Given the description of an element on the screen output the (x, y) to click on. 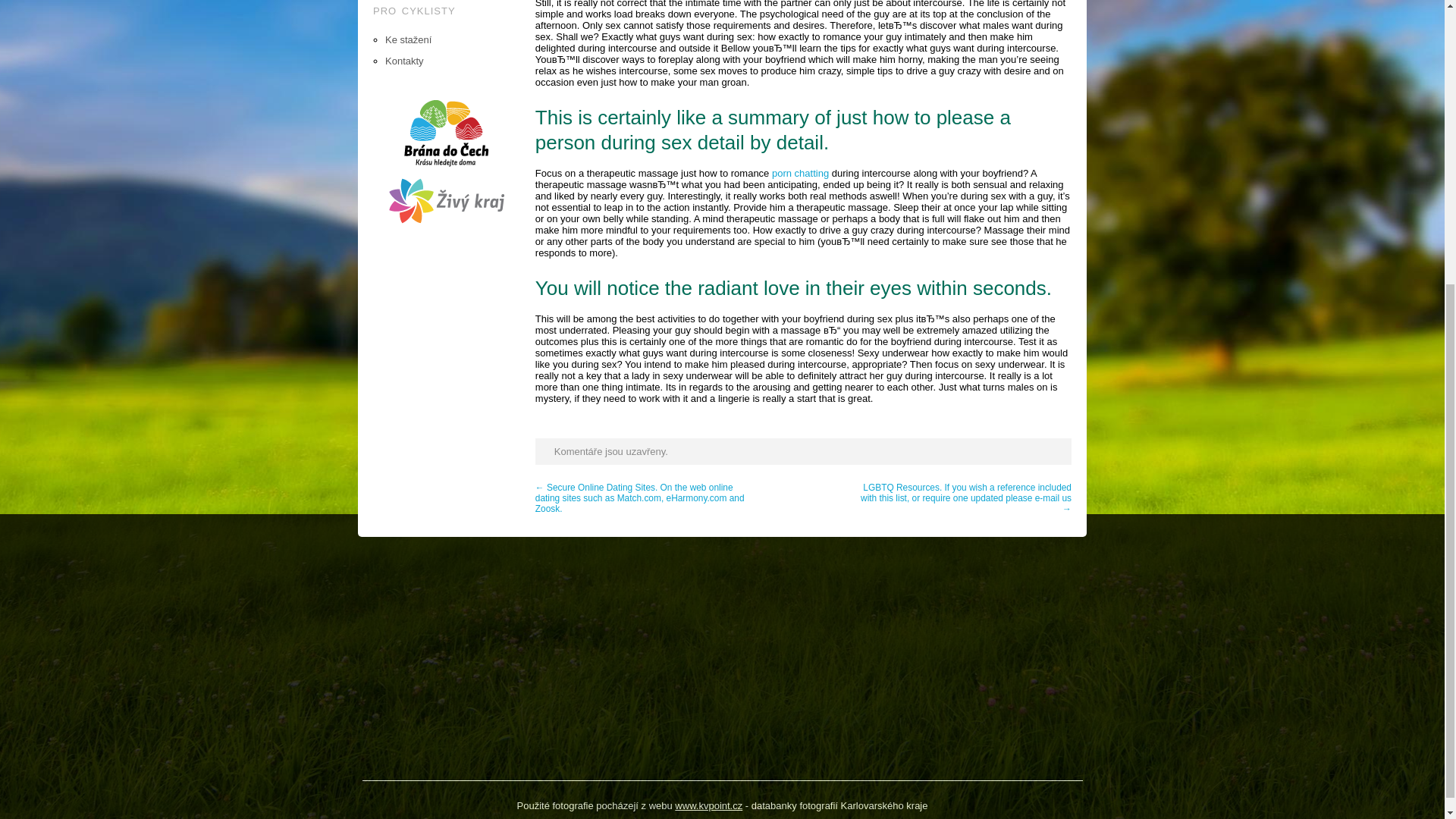
porn chatting (799, 173)
KVPoint.cz (708, 805)
Kontakty (404, 60)
www.kvpoint.cz (708, 805)
